Given the description of an element on the screen output the (x, y) to click on. 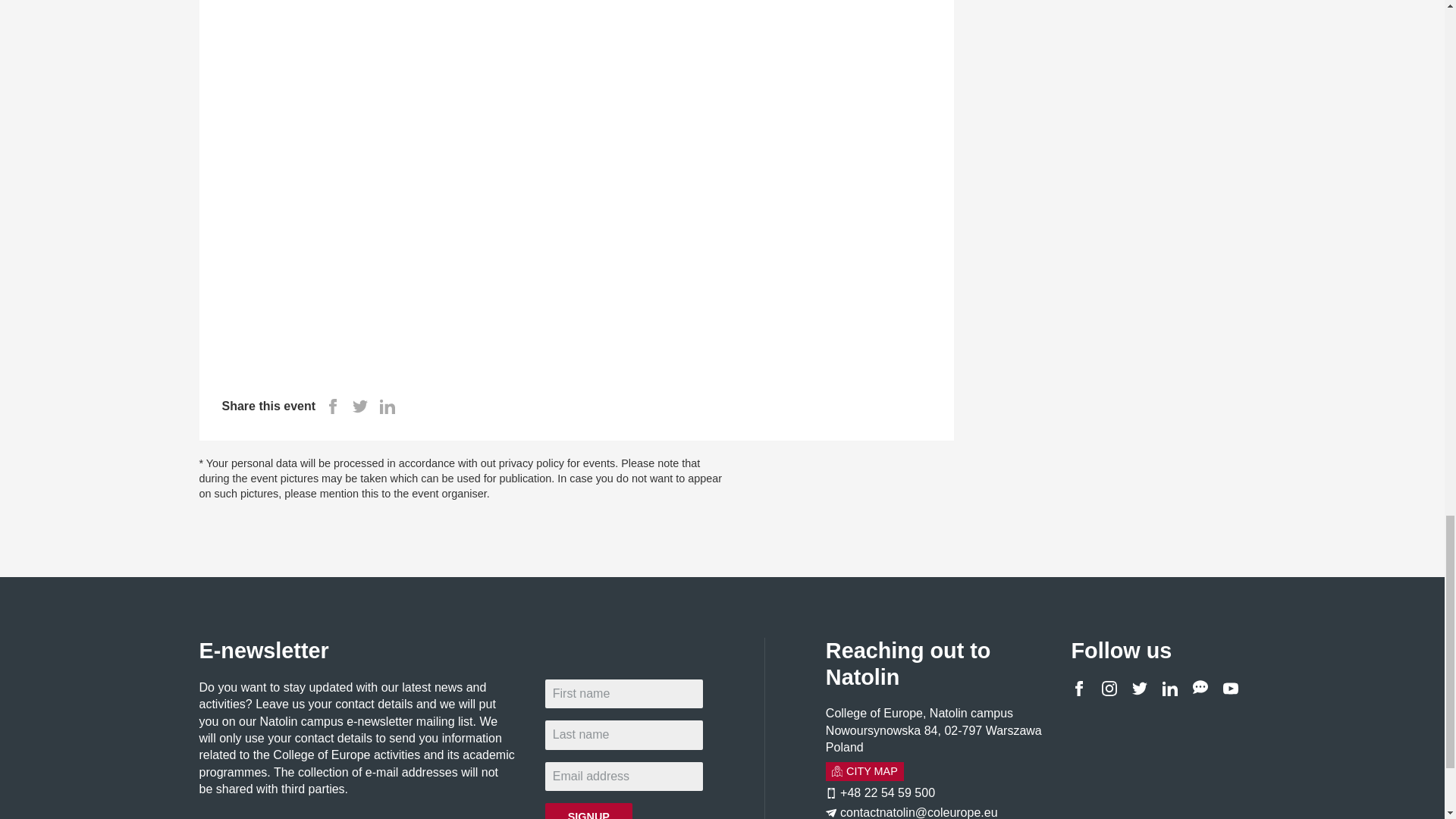
Signup (587, 811)
